Given the description of an element on the screen output the (x, y) to click on. 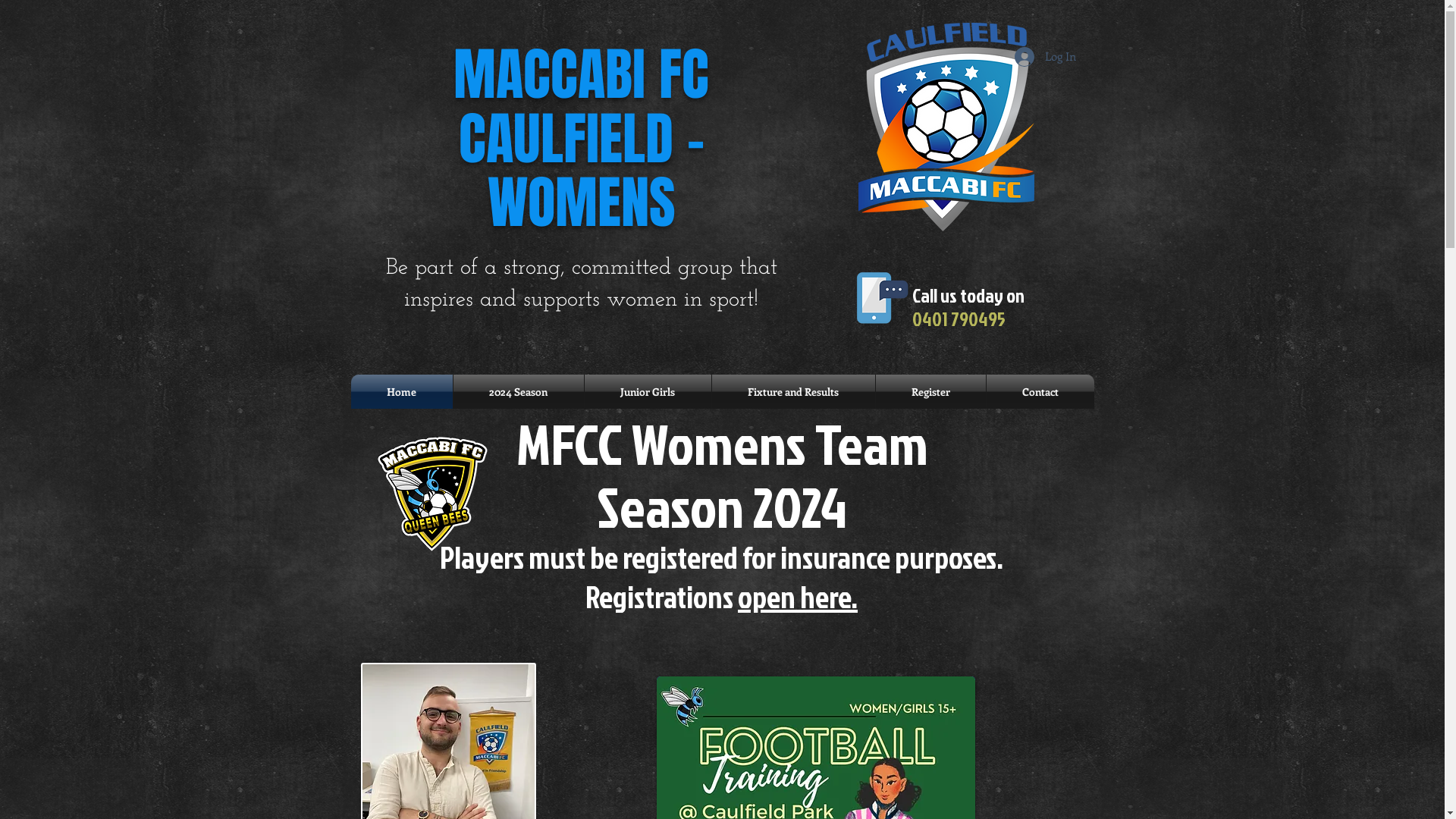
Queen Bees_InPixio cut out.png Element type: hover (431, 493)
Junior Girls Element type: text (646, 391)
Log In Element type: text (1045, 56)
Register Element type: text (930, 391)
2024 Season Element type: text (518, 391)
Fixture and Results Element type: text (792, 391)
open here. Element type: text (797, 596)
Home Element type: text (400, 391)
Contact Element type: text (1039, 391)
MACCABI FC CAULFIELD - WOMENS Element type: text (581, 138)
